Given the description of an element on the screen output the (x, y) to click on. 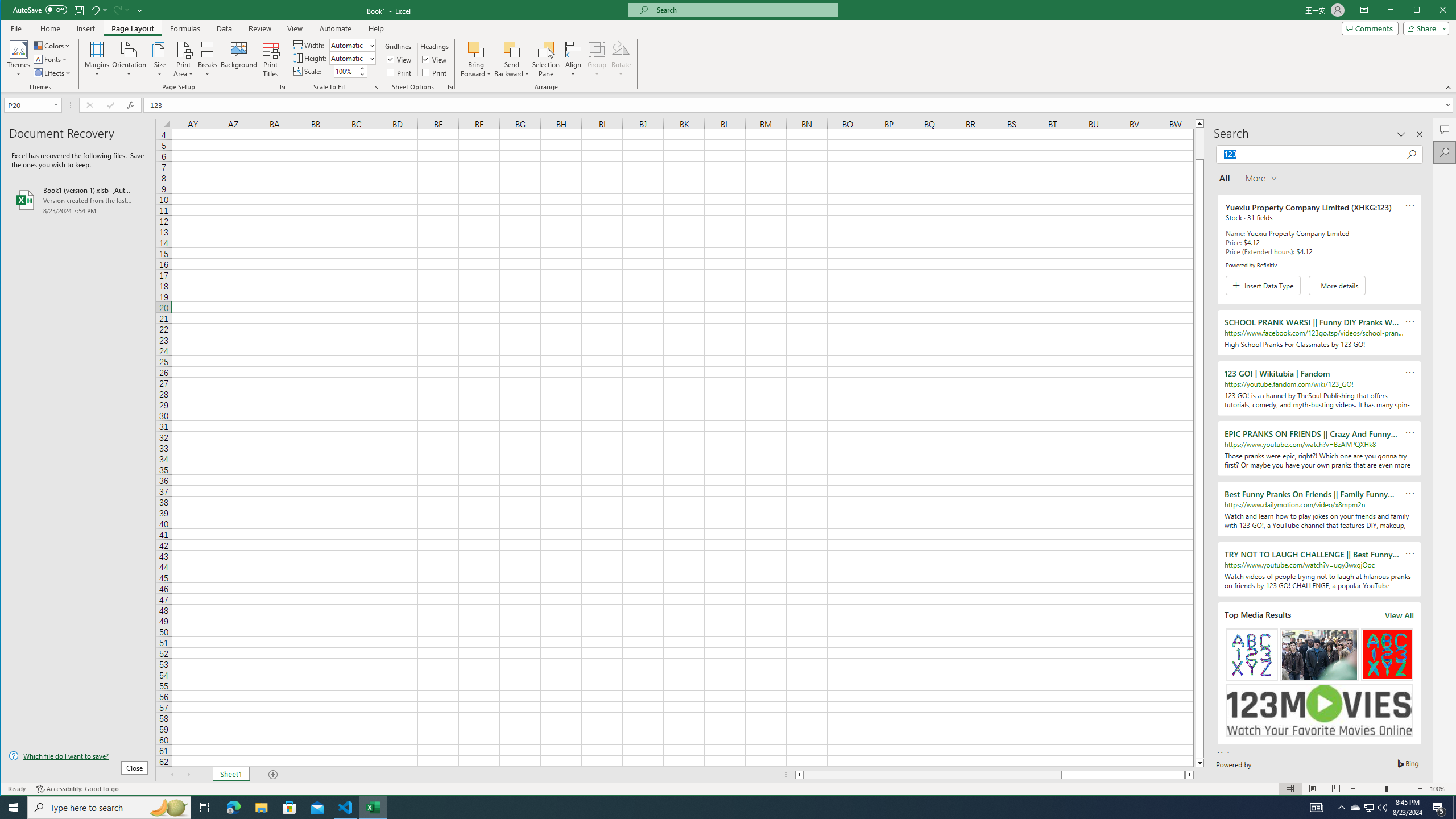
Microsoft Edge (233, 807)
Redo (120, 9)
Undo (94, 9)
Page Break Preview (1335, 788)
Fonts (51, 59)
Book1 (version 1).xlsb  [AutoRecovered] (78, 199)
Formulas (184, 28)
Colors (53, 45)
Excel - 1 running window (373, 807)
Redo (116, 9)
Home (50, 28)
Send Backward (512, 48)
AutoSave (39, 9)
Undo (98, 9)
